Given the description of an element on the screen output the (x, y) to click on. 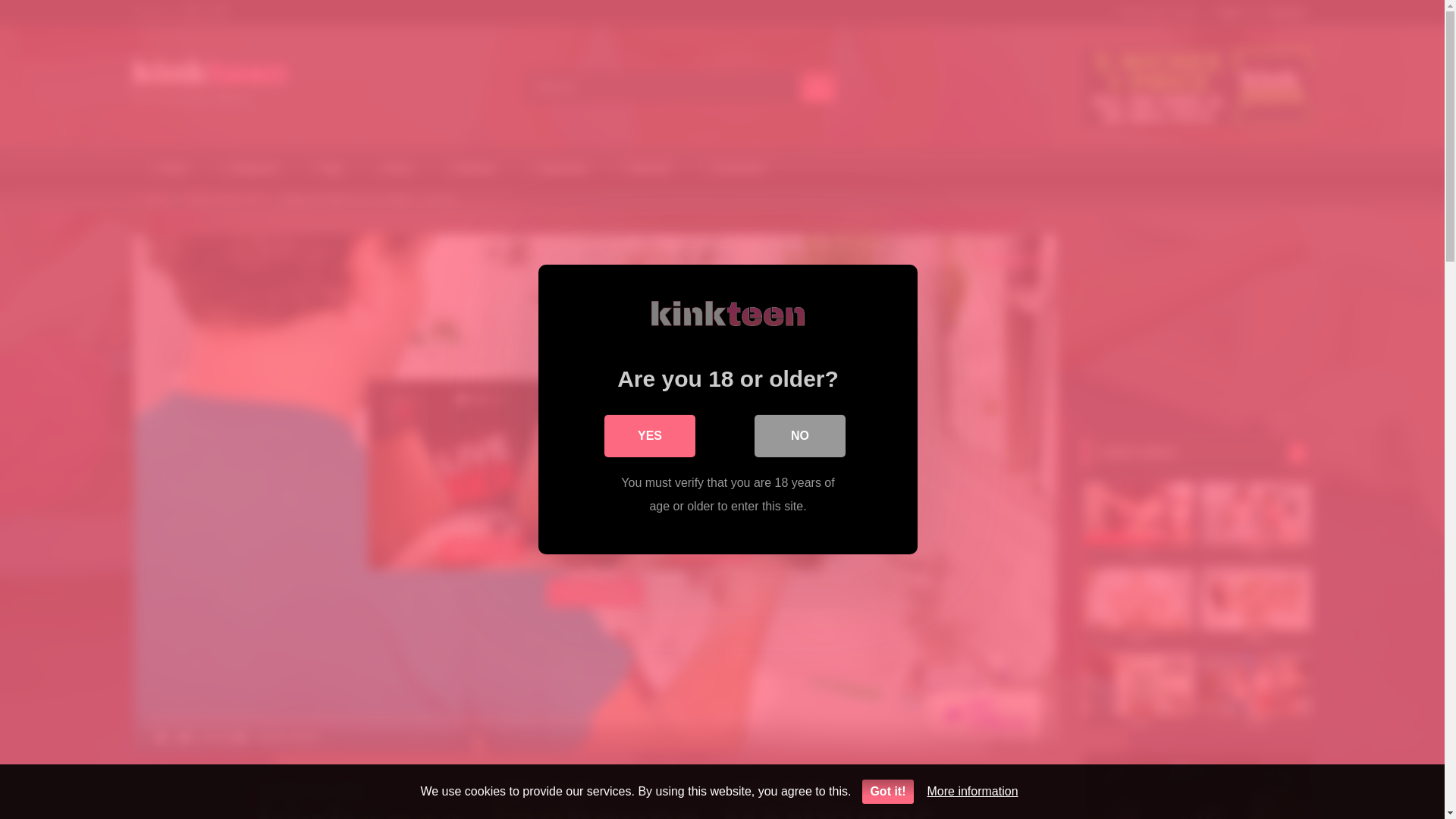
Stripchat (644, 168)
Actors (393, 168)
LiveJasmin (733, 168)
kinkteen.com (209, 74)
Categories (249, 168)
Login (1228, 12)
Home (155, 198)
Tags (326, 168)
Got it! (886, 791)
FapHouse (557, 168)
